Given the description of an element on the screen output the (x, y) to click on. 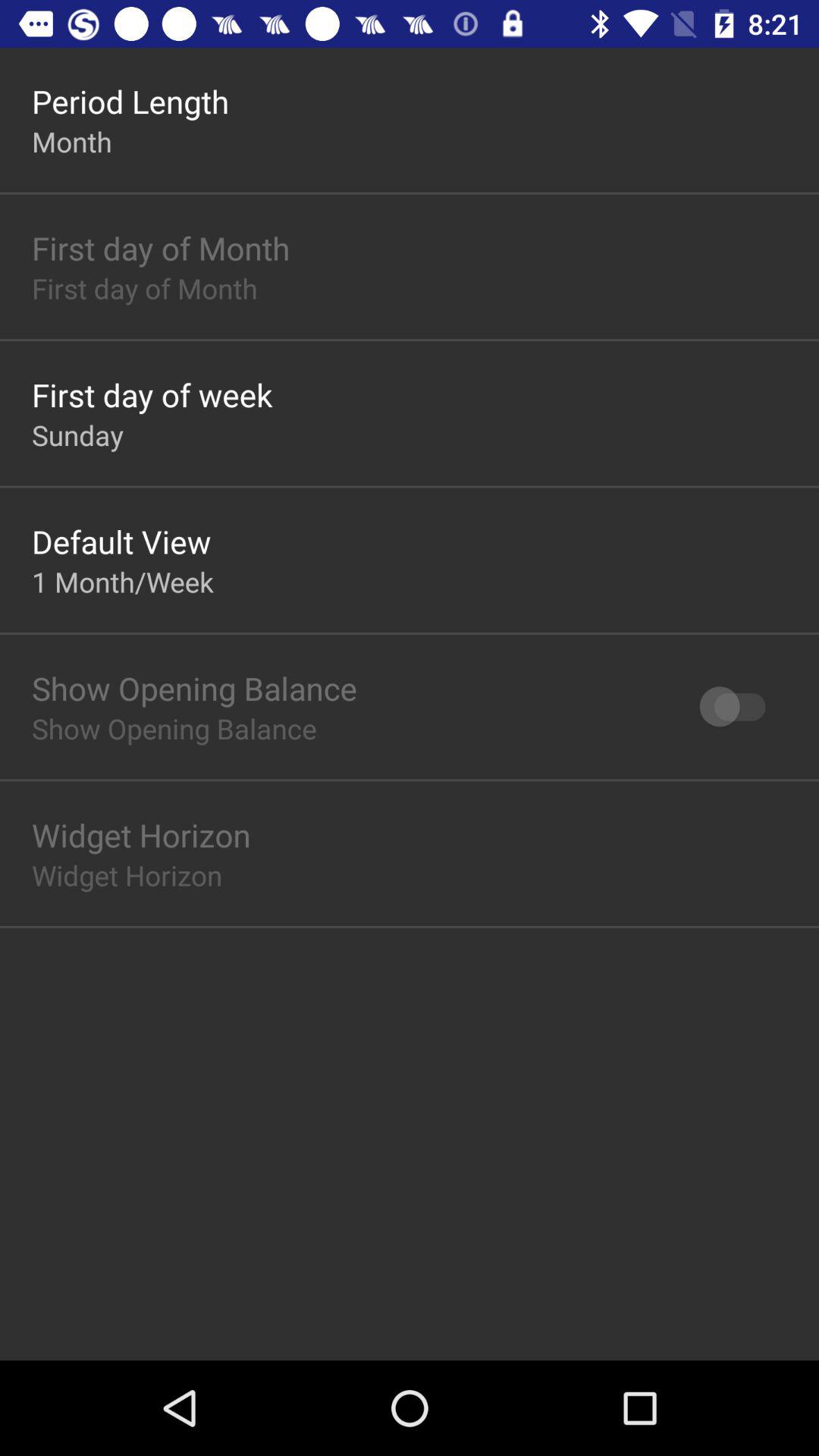
turn off 1 month/week item (122, 581)
